Given the description of an element on the screen output the (x, y) to click on. 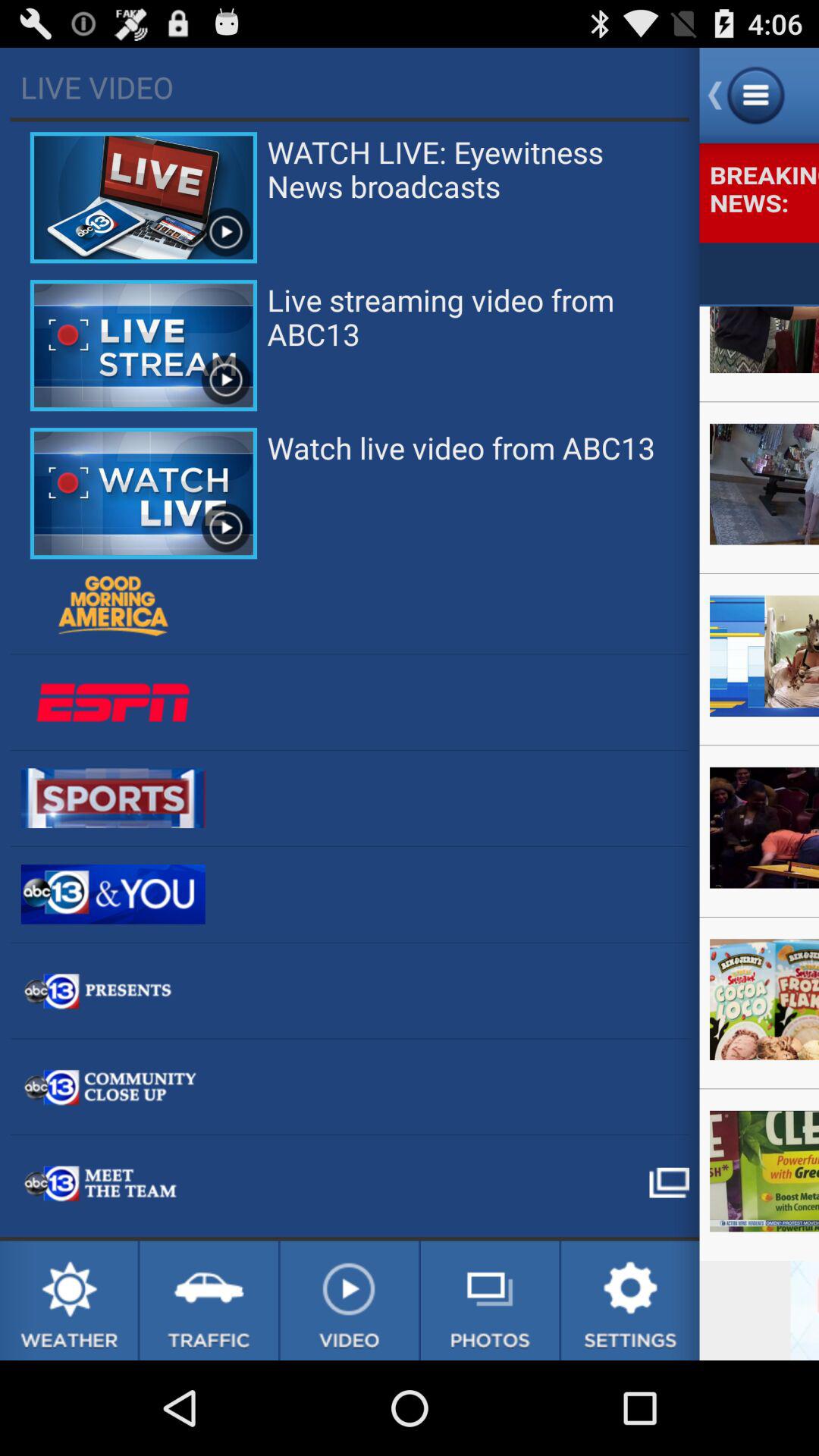
press for weather (68, 1300)
